Given the description of an element on the screen output the (x, y) to click on. 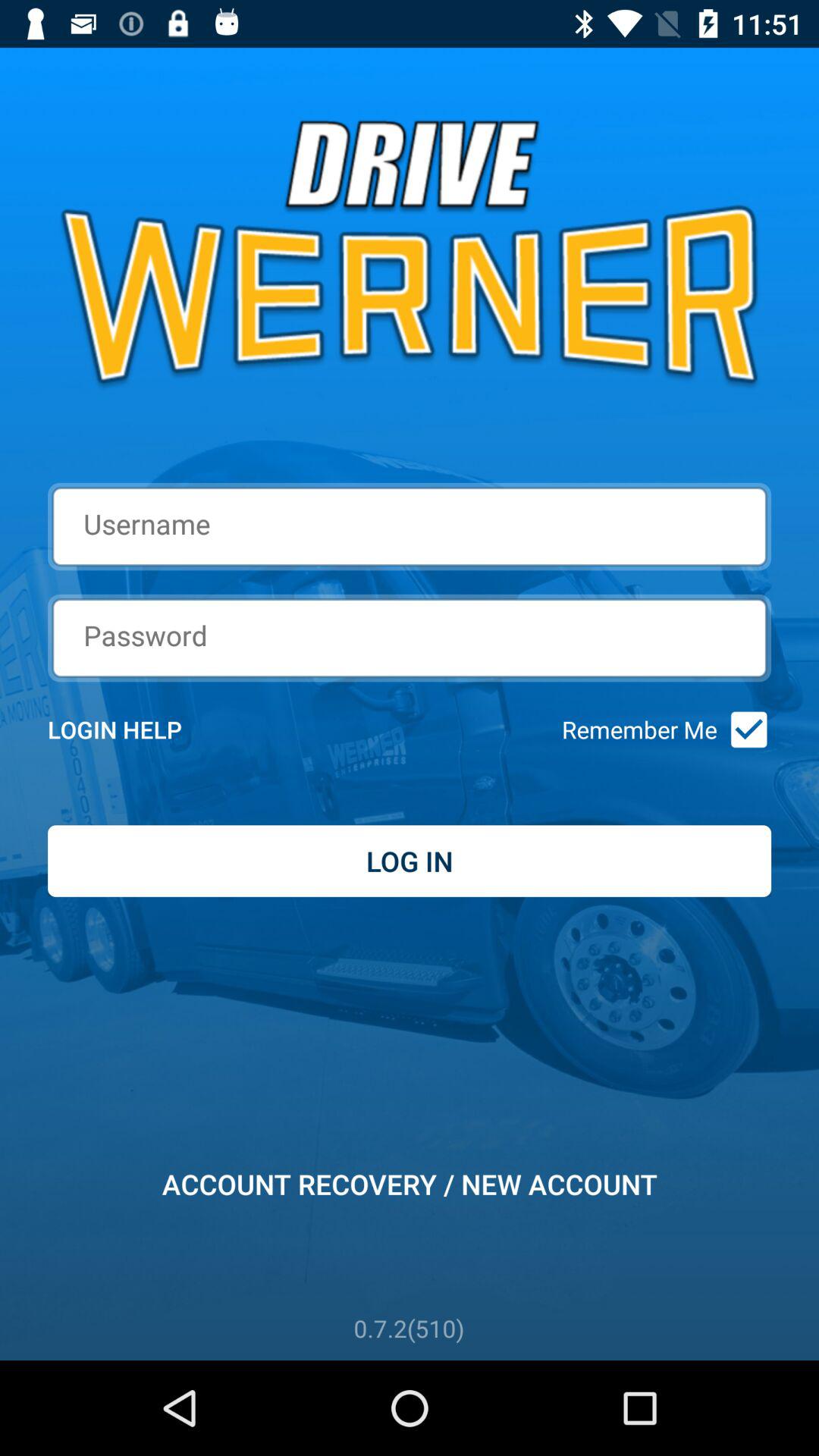
jump until the login help icon (134, 729)
